Given the description of an element on the screen output the (x, y) to click on. 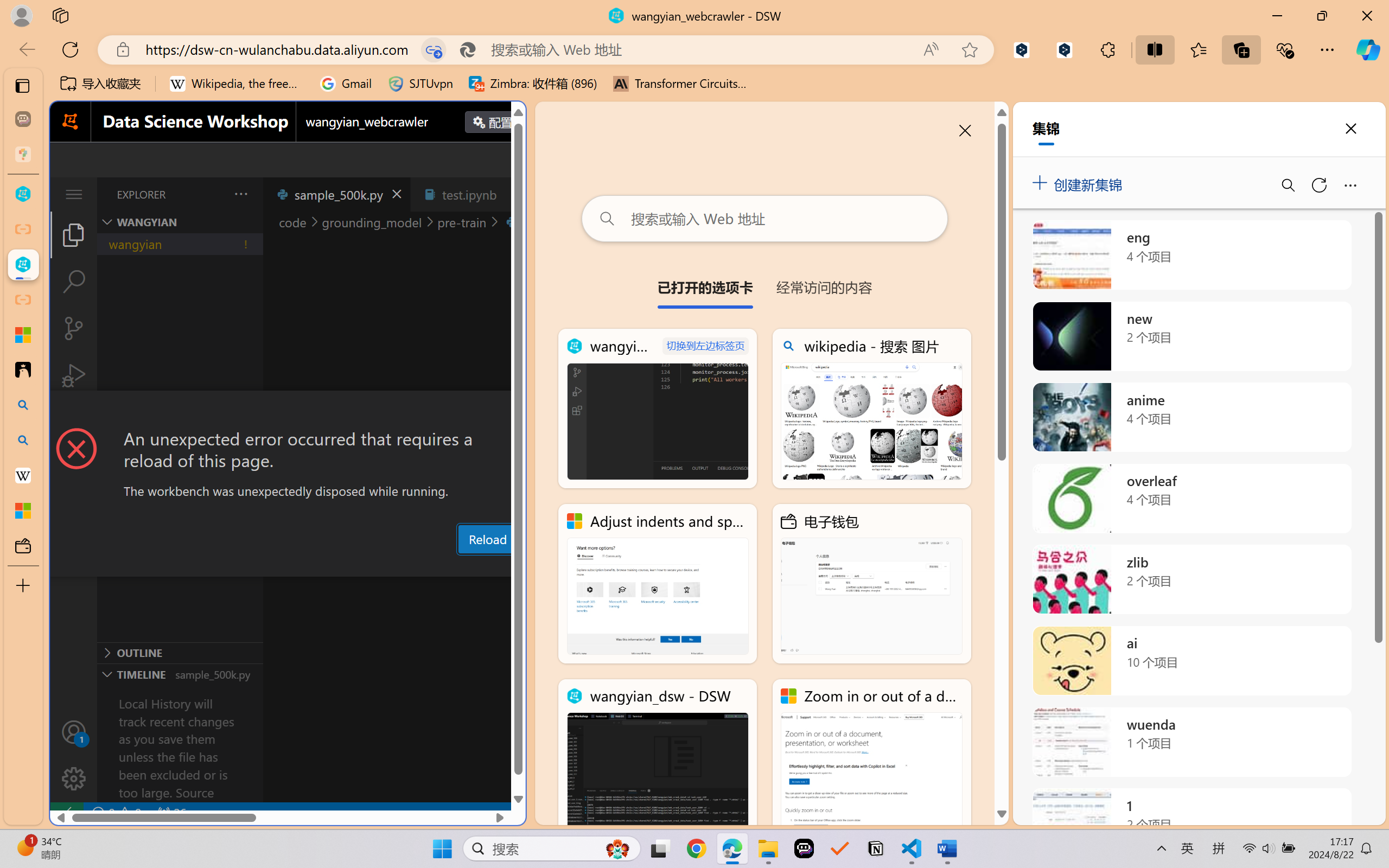
test.ipynb (468, 194)
Close Dialog (520, 410)
Transformer Circuits Thread (680, 83)
wangyian_dsw - DSW (657, 758)
Accounts - Sign in requested (73, 732)
Extensions (Ctrl+Shift+X) (73, 422)
SJTUvpn (419, 83)
wangyian_webcrawler - DSW (22, 264)
No Problems (115, 812)
